Given the description of an element on the screen output the (x, y) to click on. 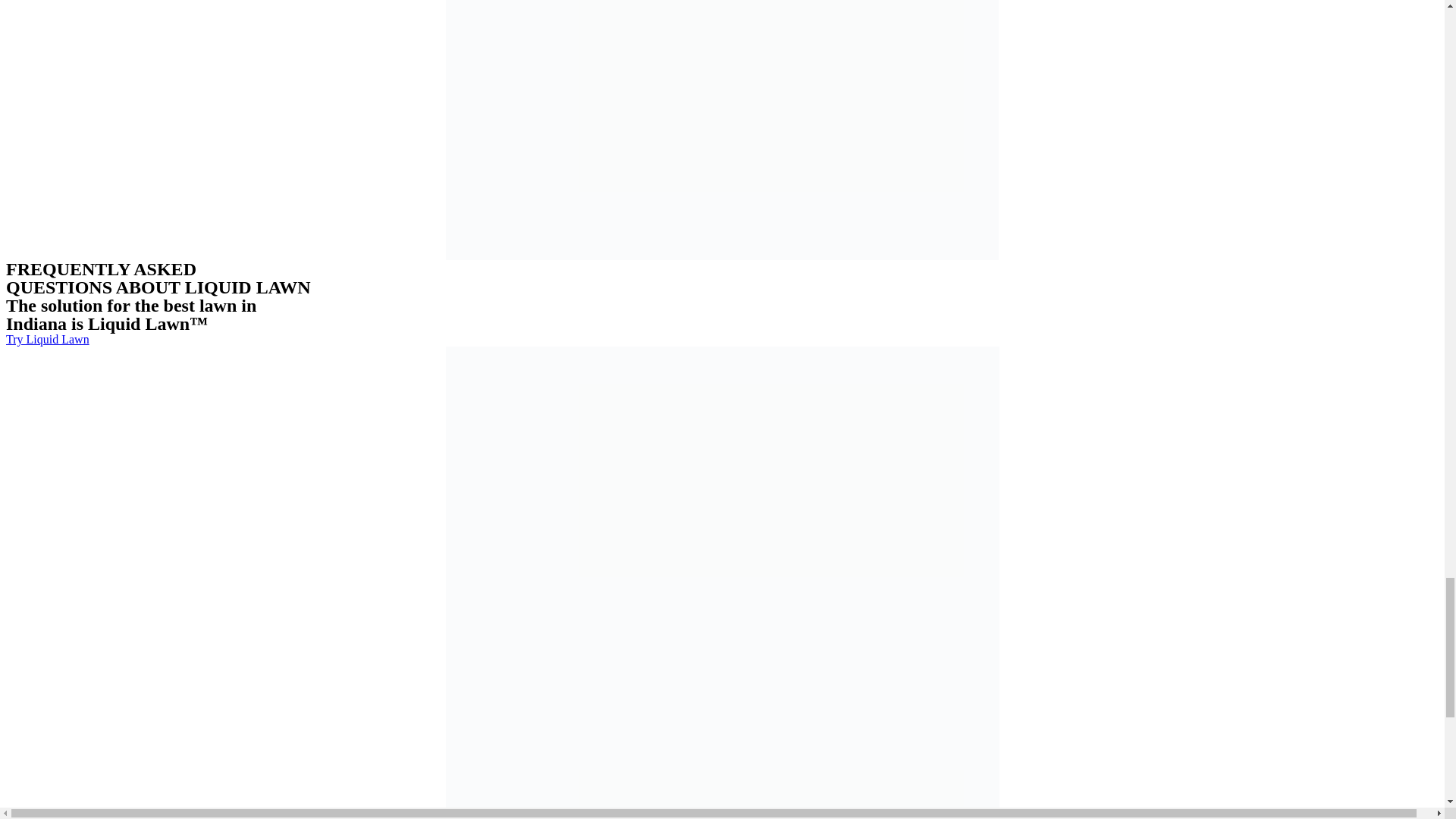
Try Liquid Lawn (46, 338)
